Given the description of an element on the screen output the (x, y) to click on. 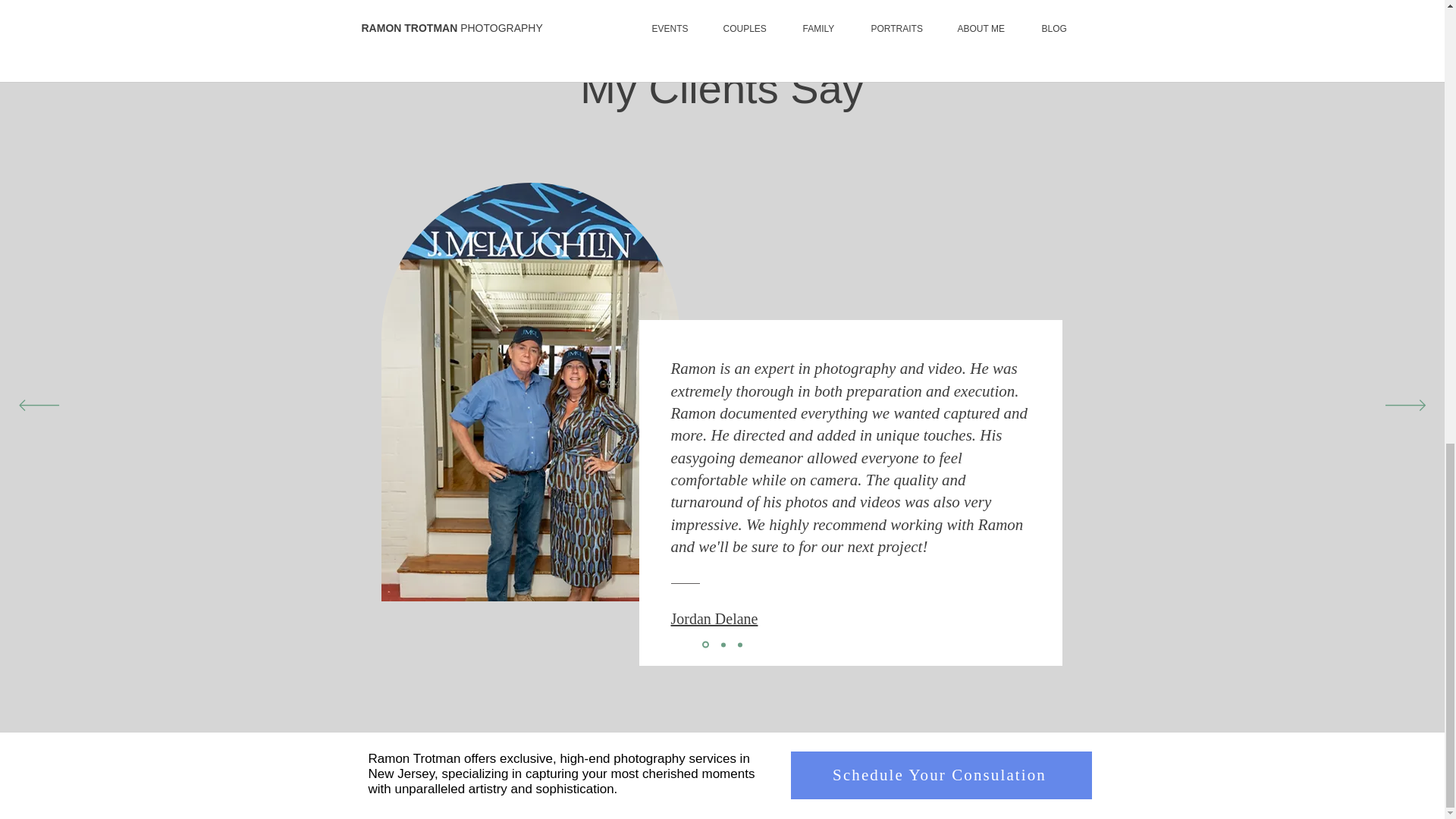
Jordan Delane (713, 618)
Schedule Your Consulation (940, 775)
